Given the description of an element on the screen output the (x, y) to click on. 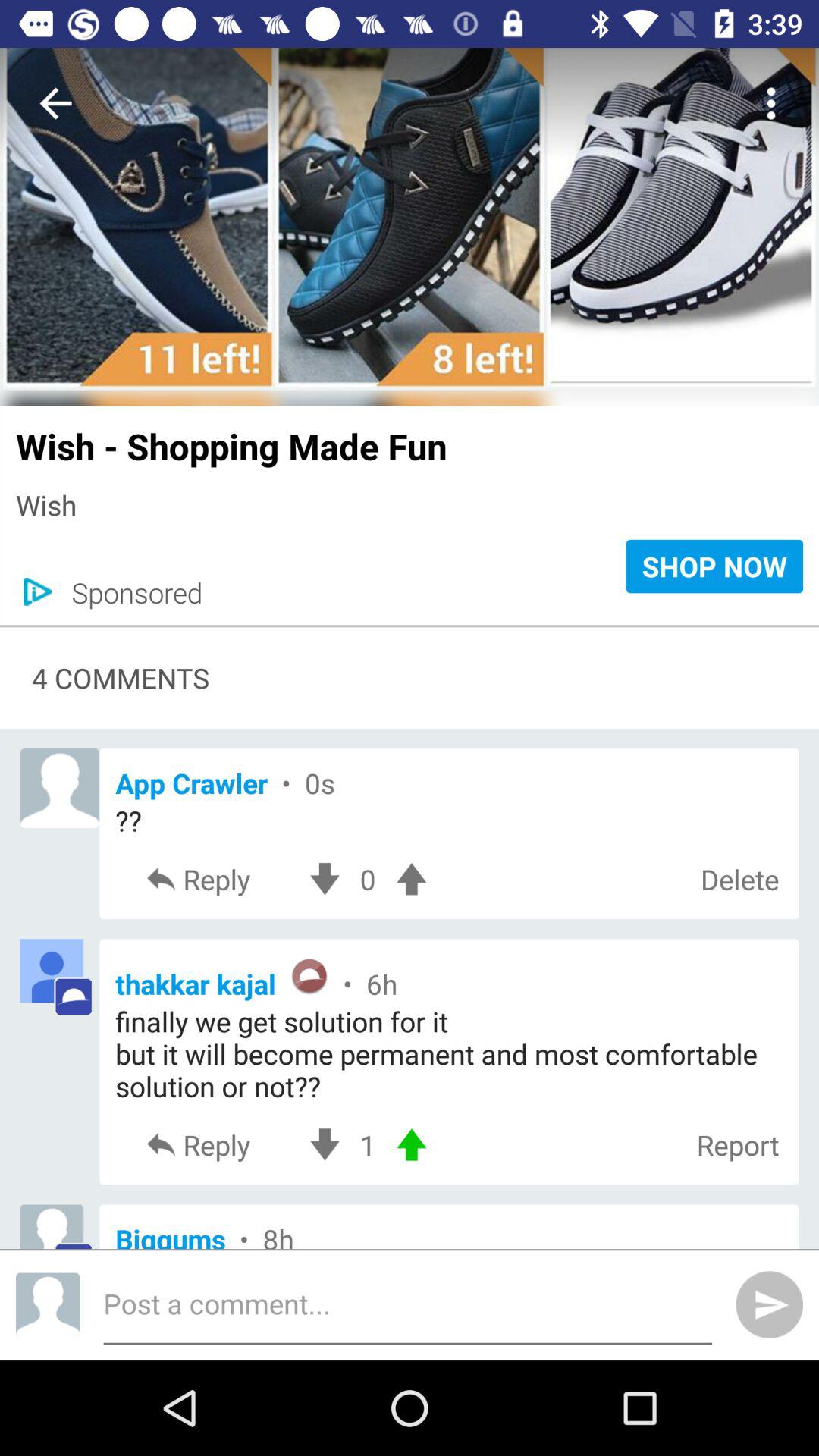
choose the item below the wish (128, 592)
